Given the description of an element on the screen output the (x, y) to click on. 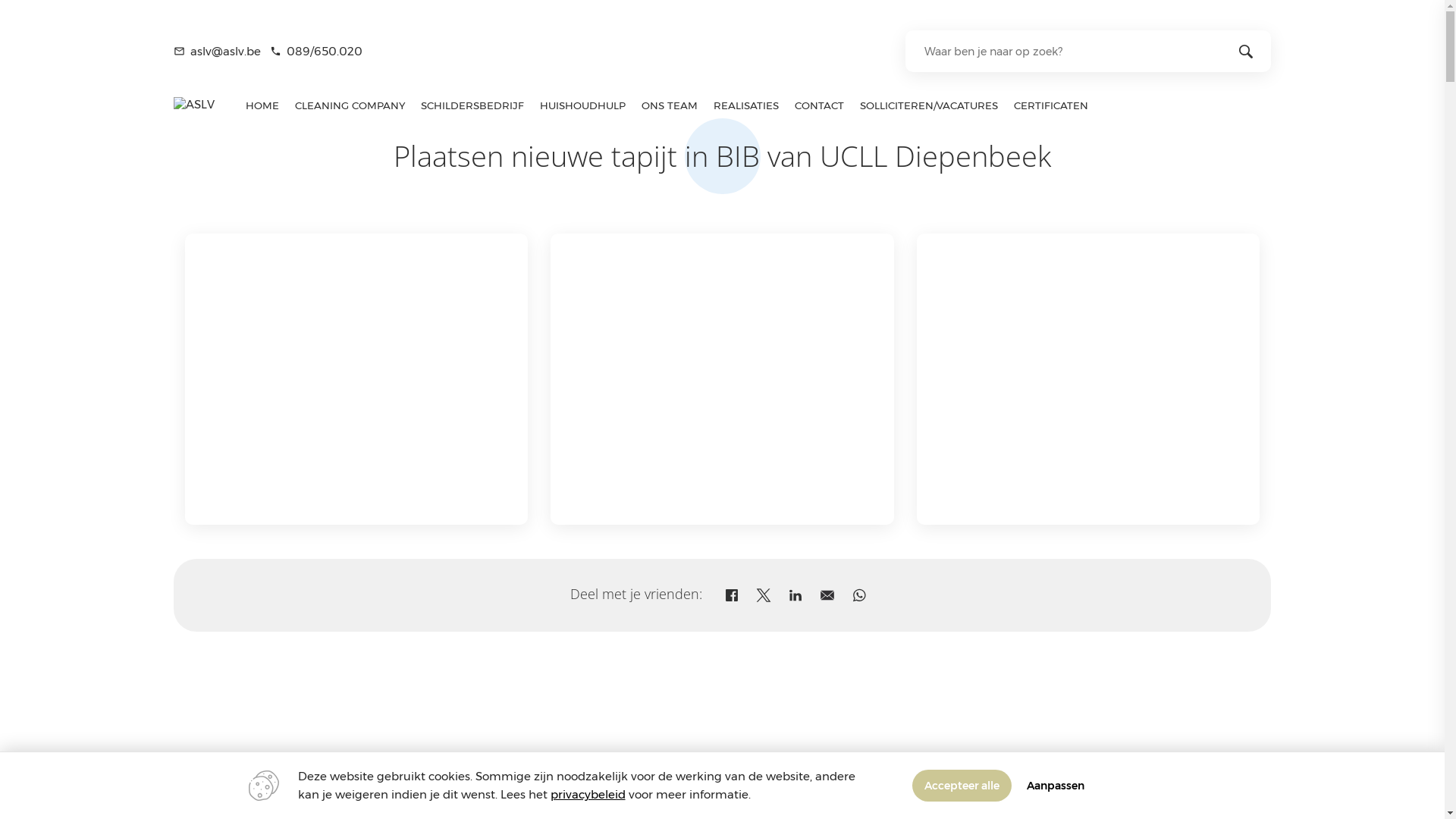
Share via X Element type: hover (763, 594)
Share via whatsapp Element type: hover (858, 594)
CONTACT Element type: text (819, 105)
CERTIFICATEN Element type: text (1050, 105)
HOME Element type: text (261, 105)
Plaatsen nieuwe tapijt in BIB van UCLL Diepenbeek Element type: hover (1087, 378)
mail_outline
aslv@aslv.be Element type: text (216, 51)
Share via linkedin Element type: hover (795, 594)
Plaatsen nieuwe tapijt in BIB van UCLL Diepenbeek Element type: hover (356, 378)
SOLLICITEREN/VACATURES Element type: text (928, 105)
Plaatsen nieuwe tapijt in BIB van UCLL Diepenbeek Element type: hover (721, 378)
privacybeleid Element type: text (587, 794)
Aanpassen Element type: text (1055, 785)
phone
089/650.020 Element type: text (315, 51)
Share via facebook Element type: hover (731, 594)
CLEANING COMPANY Element type: text (349, 105)
Accepteer alle Element type: text (960, 785)
ONS TEAM Element type: text (669, 105)
HUISHOUDHULP Element type: text (583, 105)
Share via mail Element type: hover (826, 594)
ASLV Element type: hover (193, 104)
SCHILDERSBEDRIJF Element type: text (472, 105)
REALISATIES Element type: text (746, 105)
